Given the description of an element on the screen output the (x, y) to click on. 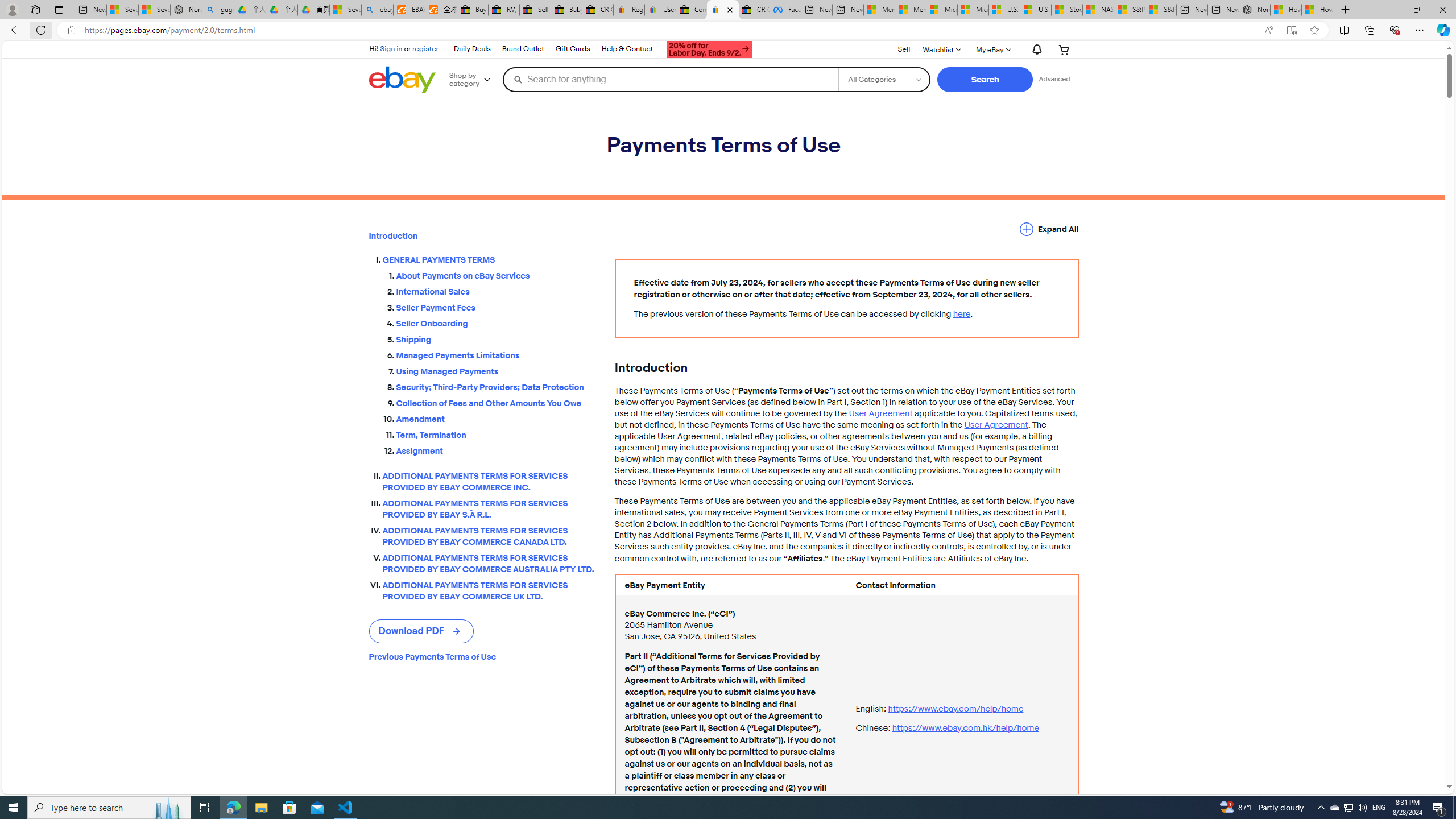
Amendment (496, 419)
Assignment (496, 448)
Help & Contact (627, 49)
Sell (904, 49)
Gift Cards (571, 49)
Daily Deals (472, 49)
https://www.ebay.com.hk/ help/home (965, 727)
Seller Payment Fees (496, 307)
Term, Termination (496, 435)
Previous Payments Terms of Use (482, 657)
